Given the description of an element on the screen output the (x, y) to click on. 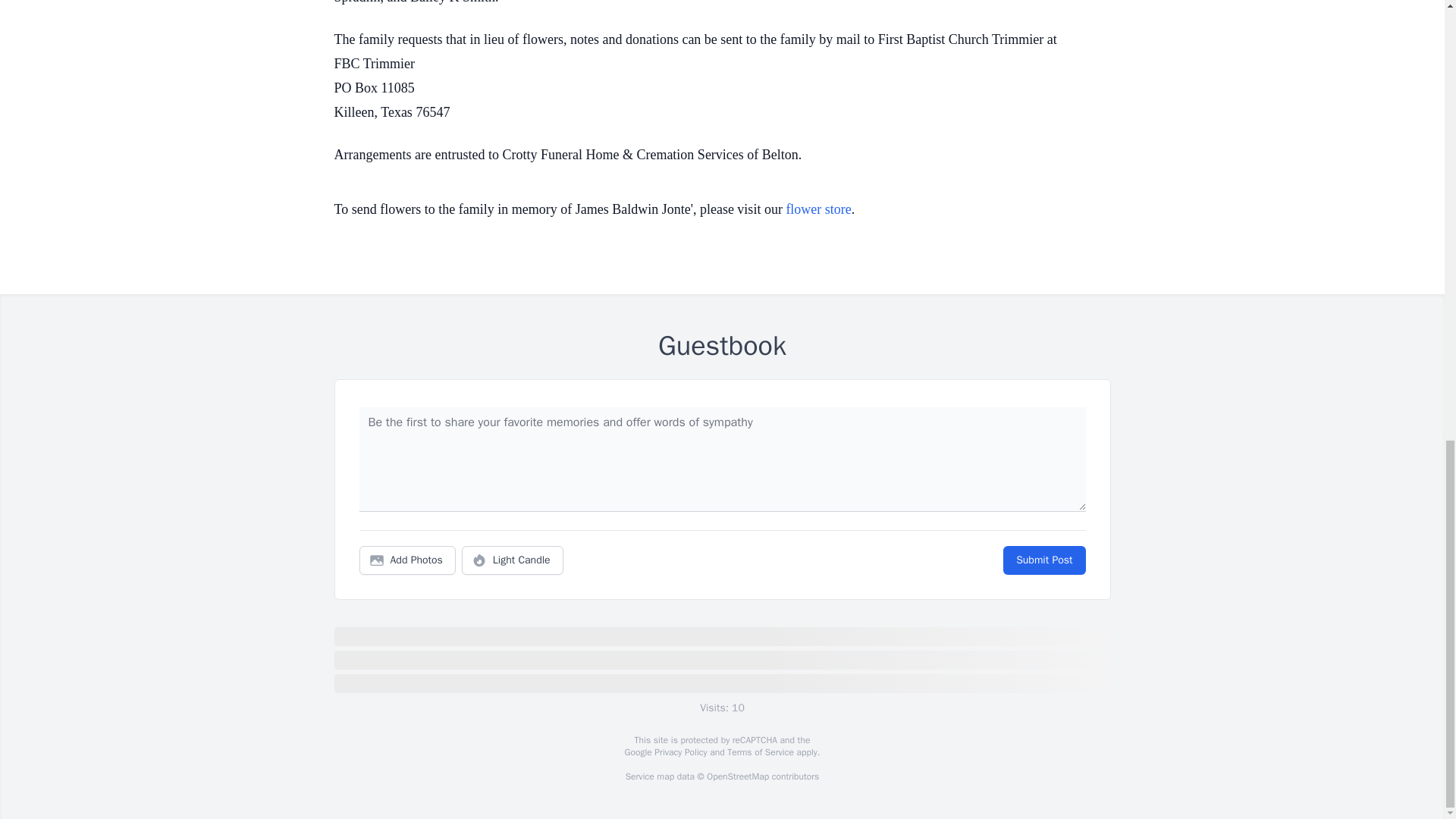
Submit Post (1043, 560)
flower store (818, 209)
Light Candle (512, 560)
Privacy Policy (679, 752)
OpenStreetMap (737, 776)
Add Photos (407, 560)
Terms of Service (759, 752)
